Given the description of an element on the screen output the (x, y) to click on. 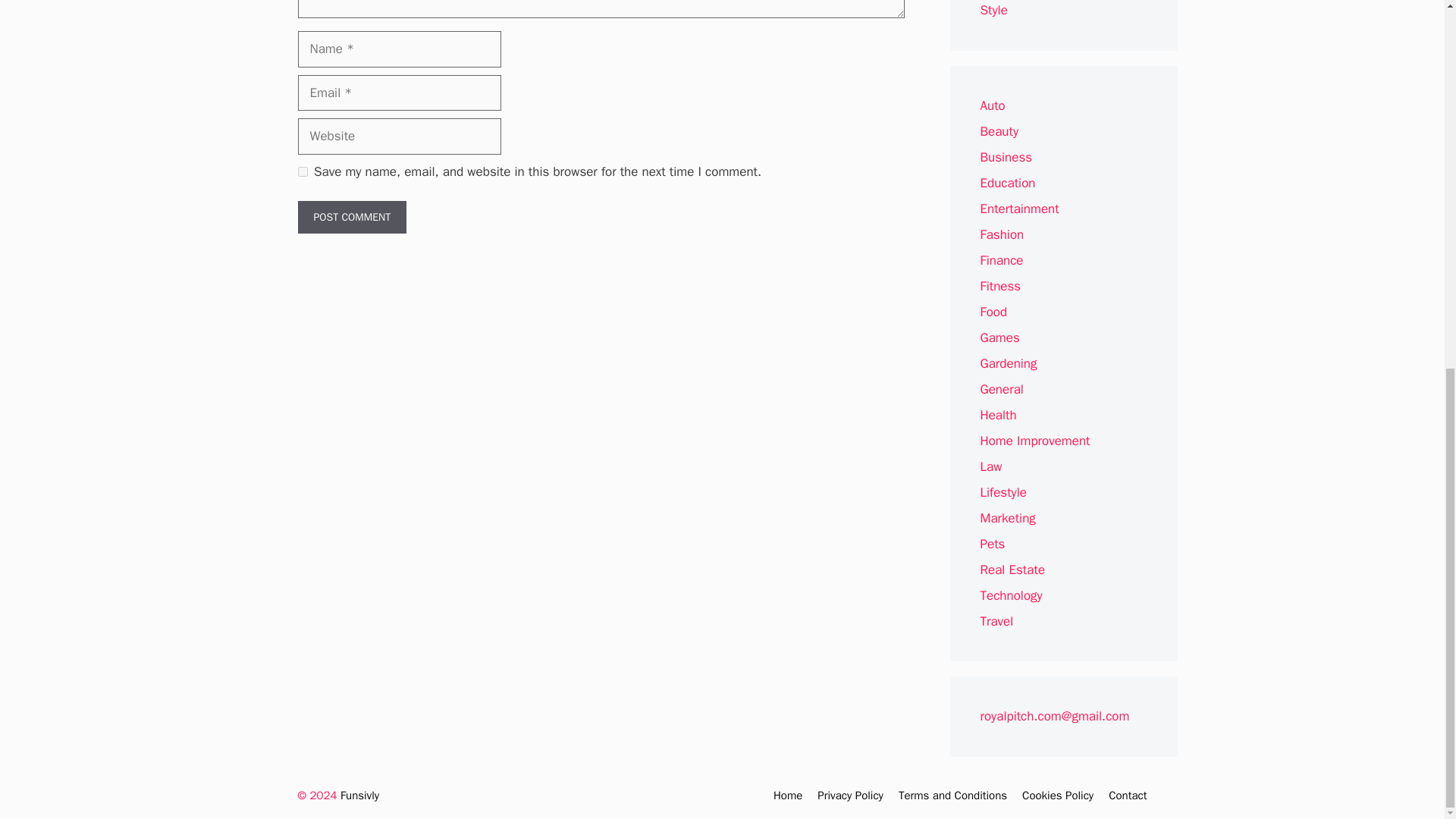
Gardening (1007, 363)
Auto (991, 105)
Post Comment (351, 216)
yes (302, 171)
General (1001, 389)
Education (1007, 182)
Beauty (998, 131)
Marketing (1007, 518)
Fashion (1001, 234)
Food (993, 311)
Games (999, 337)
Lifestyle (1002, 492)
Finance (1001, 260)
Entertainment (1018, 208)
